Given the description of an element on the screen output the (x, y) to click on. 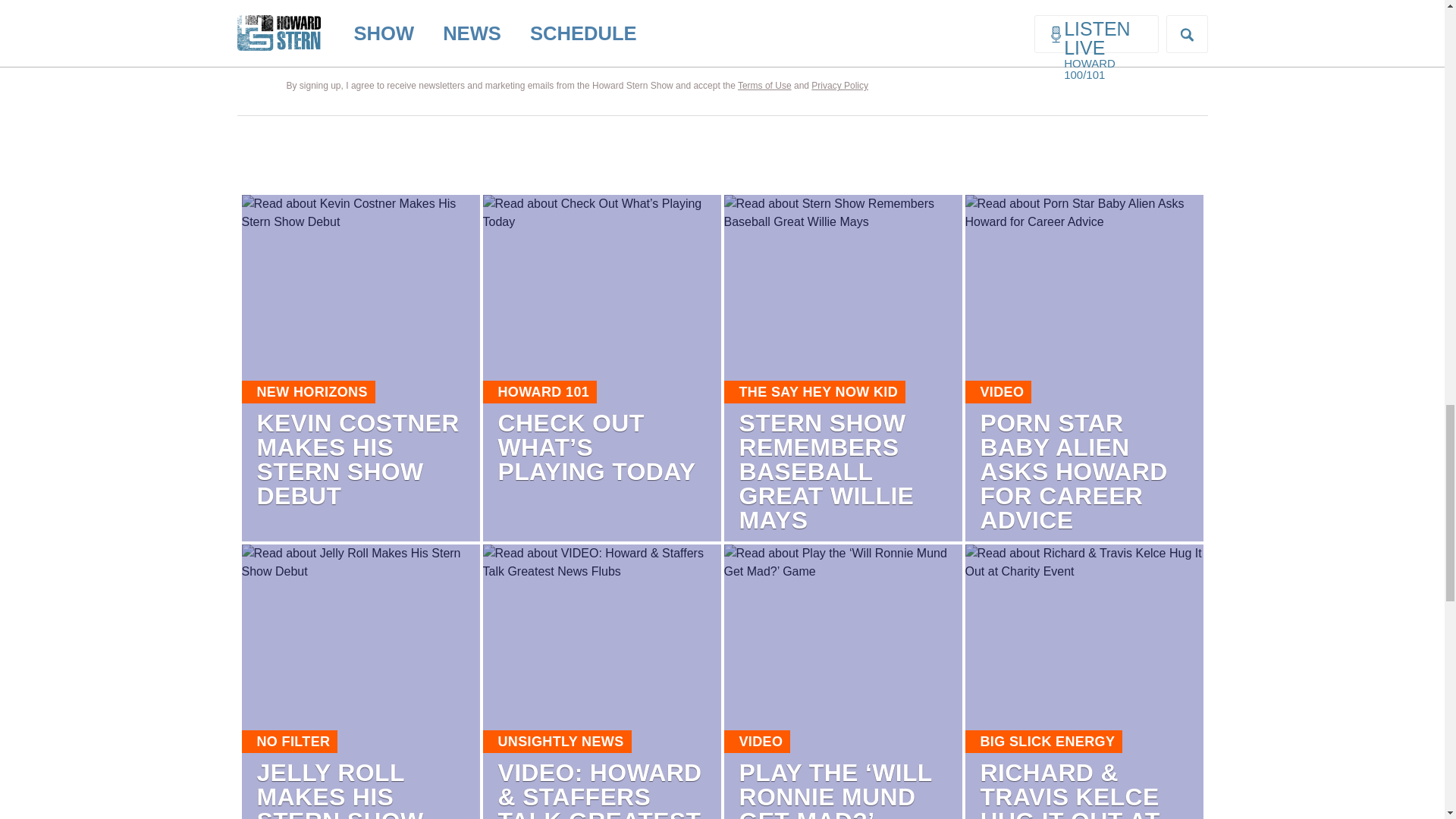
STERN SHOW REMEMBERS BASEBALL GREAT WILLIE MAYS (826, 471)
Submit (1131, 48)
KEVIN COSTNER MAKES HIS STERN SHOW DEBUT (357, 459)
PORN STAR BABY ALIEN ASKS HOWARD FOR CAREER ADVICE (1073, 471)
Terms of Use (765, 85)
JELLY ROLL MAKES HIS STERN SHOW DEBUT (339, 789)
Privacy Policy (838, 85)
